Given the description of an element on the screen output the (x, y) to click on. 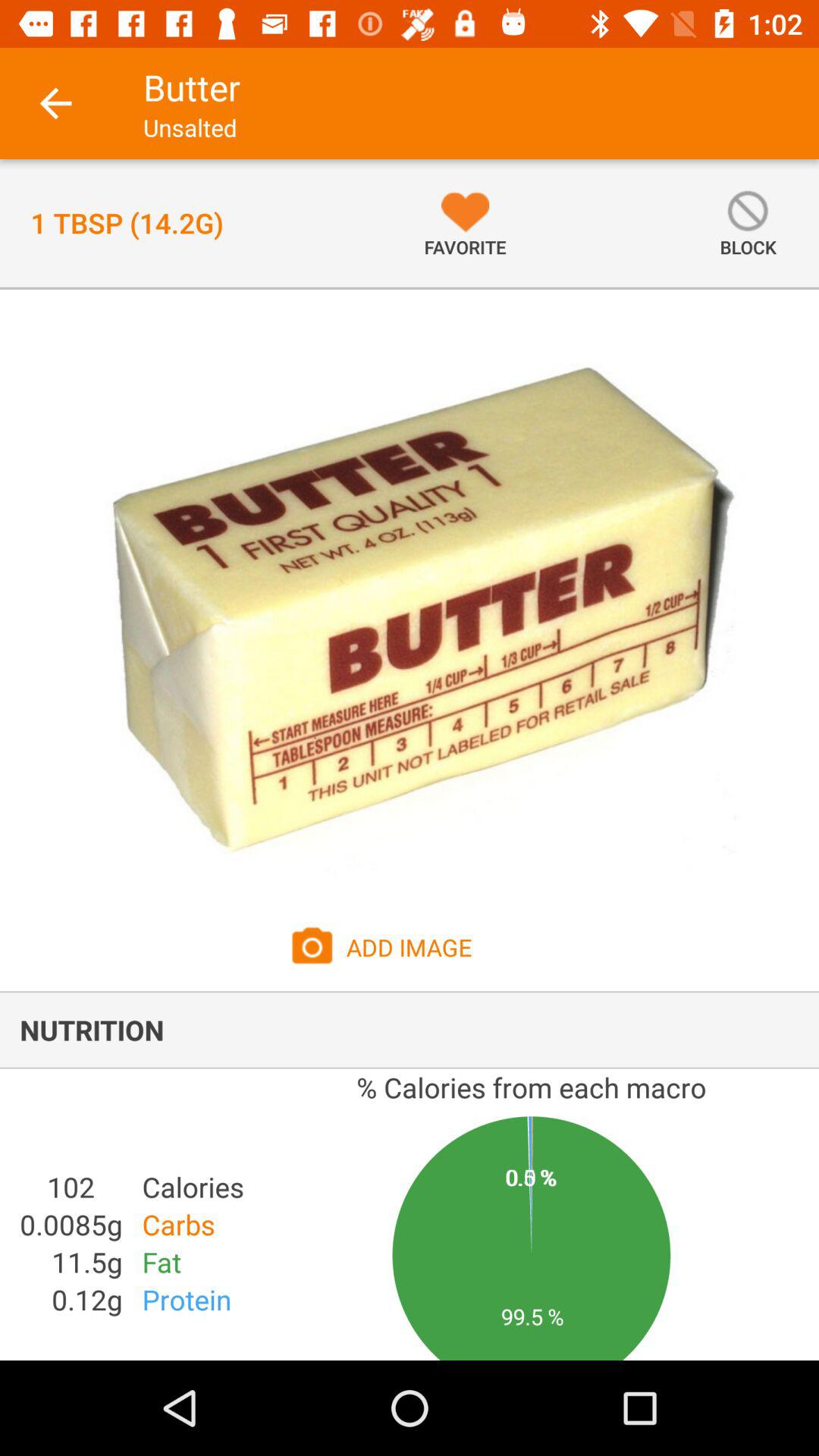
turn off item to the right of the 1 tbsp 14 item (464, 223)
